Given the description of an element on the screen output the (x, y) to click on. 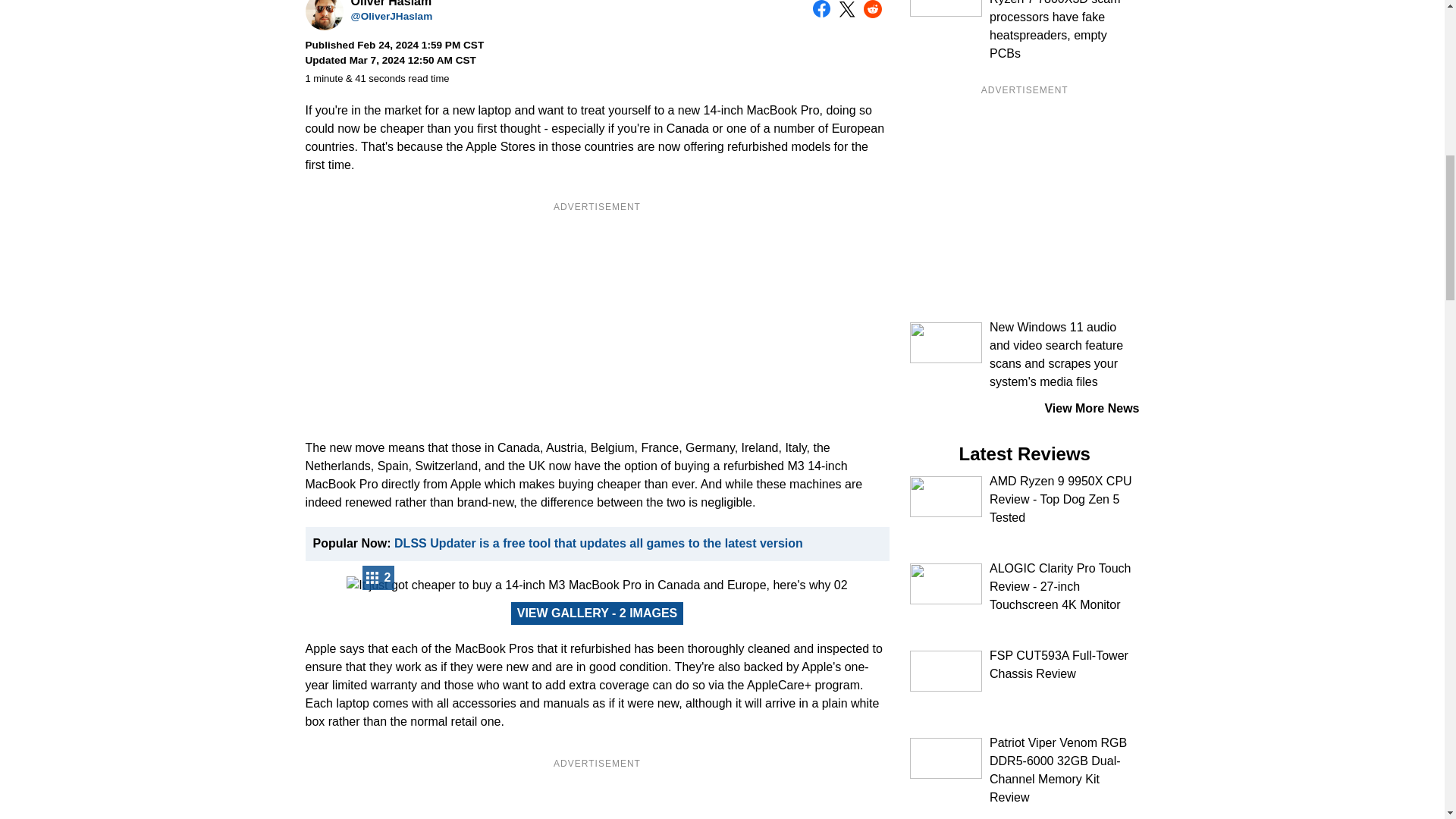
Open Gallery (378, 577)
Oliver Haslam (323, 15)
Share on Reddit (871, 9)
Open Gallery (597, 612)
Share on Facebook (821, 9)
Share on X (847, 9)
